Given the description of an element on the screen output the (x, y) to click on. 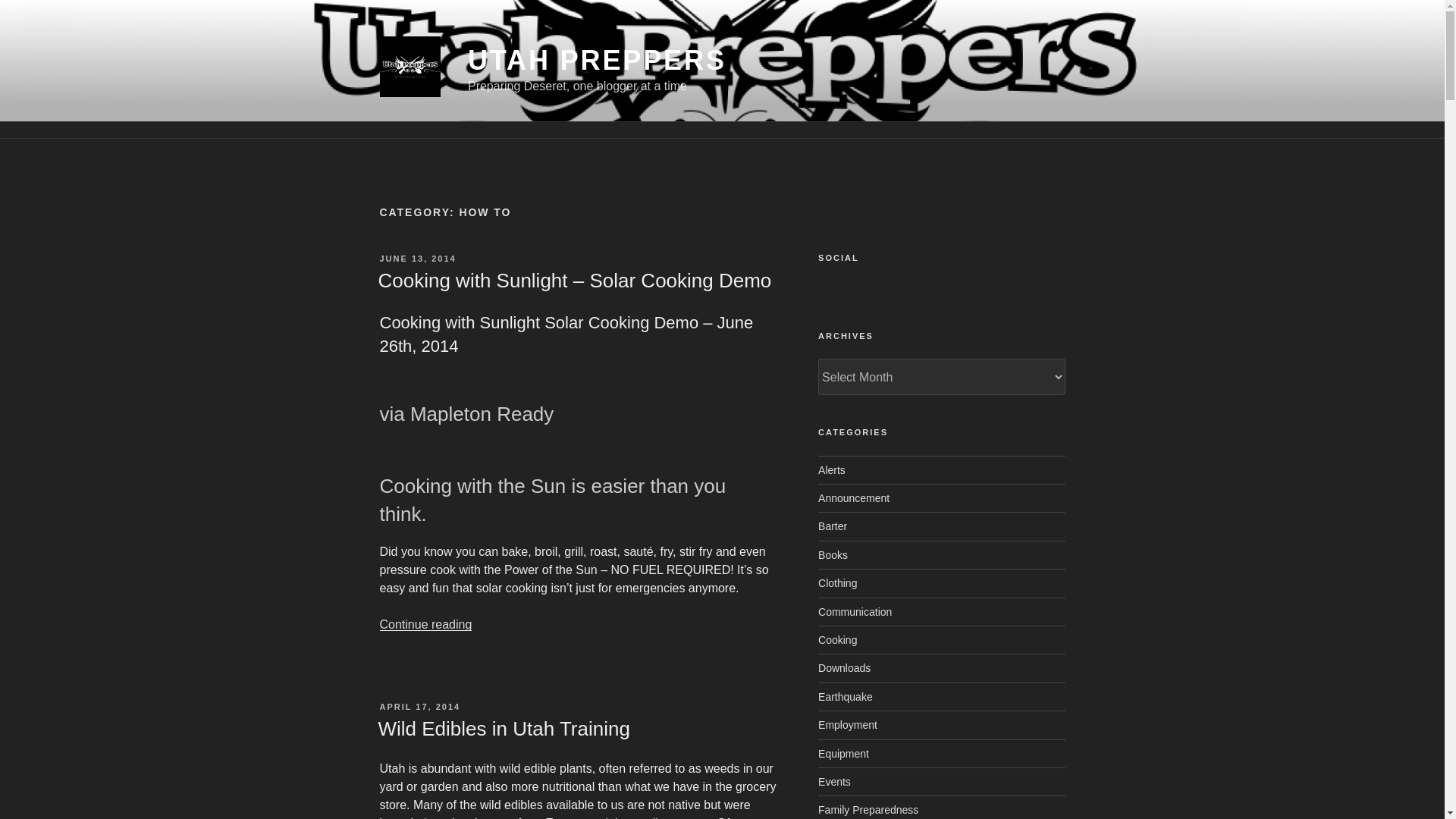
UTAH PREPPERS (596, 60)
Wild Edibles in Utah Training (502, 728)
JUNE 13, 2014 (416, 257)
APRIL 17, 2014 (419, 706)
